Given the description of an element on the screen output the (x, y) to click on. 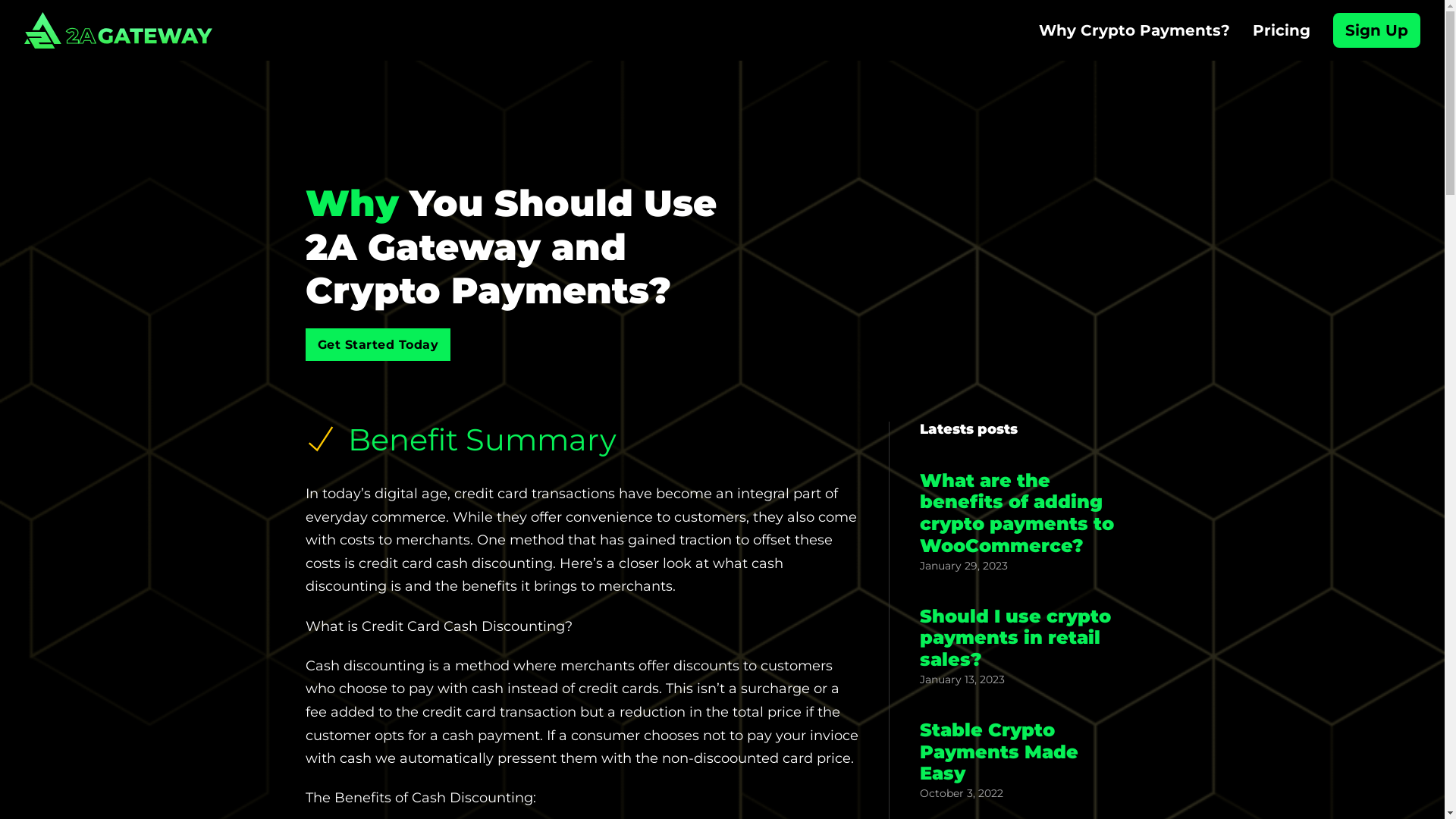
Stable Crypto Payments Made Easy Element type: text (998, 751)
Sign Up Element type: text (1376, 29)
Get Started Today Element type: text (377, 344)
Pricing Element type: text (1281, 30)
Should I use crypto payments in retail sales? Element type: text (1014, 638)
Why Crypto Payments? Element type: text (1134, 30)
